Given the description of an element on the screen output the (x, y) to click on. 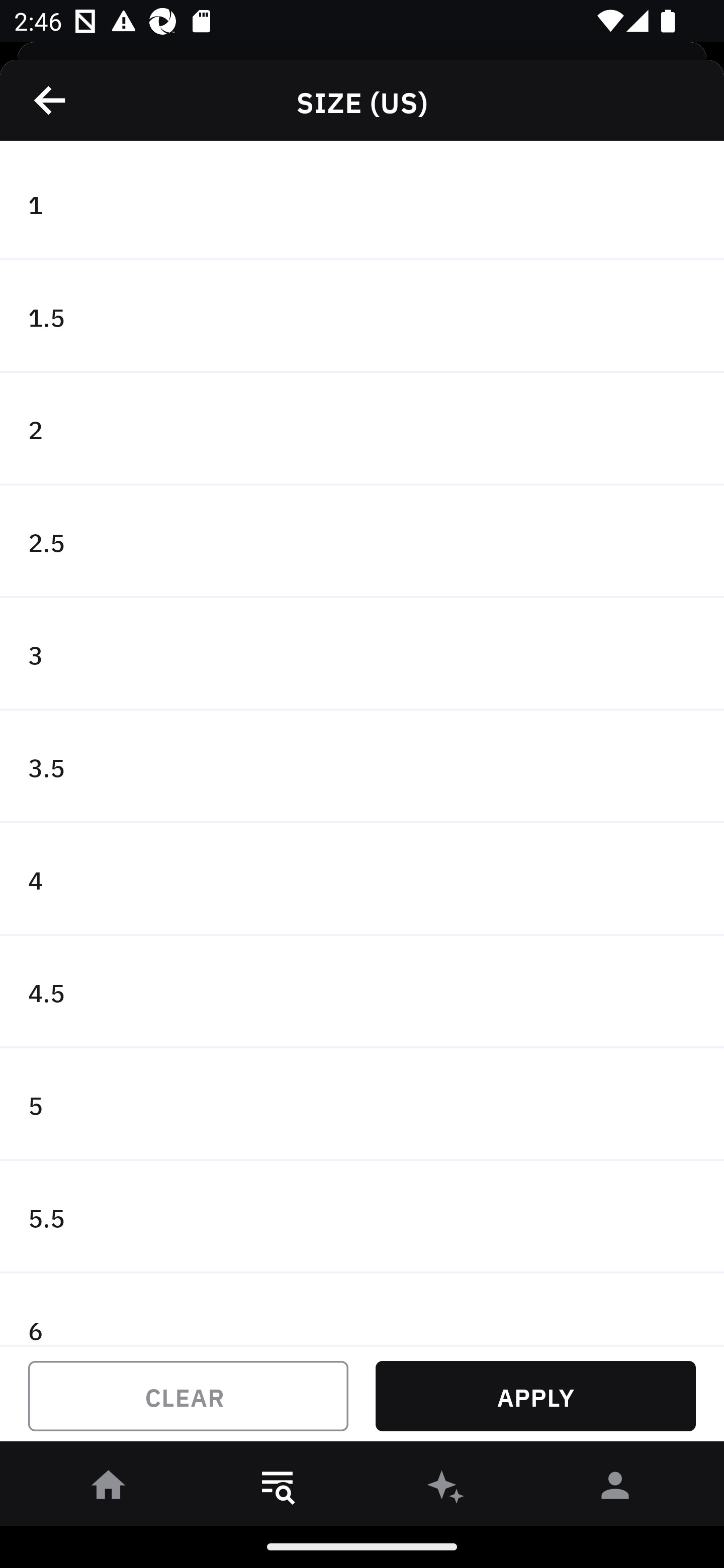
 (50, 100)
1 (362, 203)
1.5 (362, 316)
2 (362, 429)
2.5 (362, 541)
3 (362, 653)
3.5 (362, 766)
4 (362, 879)
4.5 (362, 992)
5 (362, 1104)
5.5 (362, 1216)
6 (362, 1309)
CLEAR  (188, 1396)
APPLY (535, 1396)
󰋜 (108, 1488)
󱎸 (277, 1488)
󰫢 (446, 1488)
󰀄 (615, 1488)
